Given the description of an element on the screen output the (x, y) to click on. 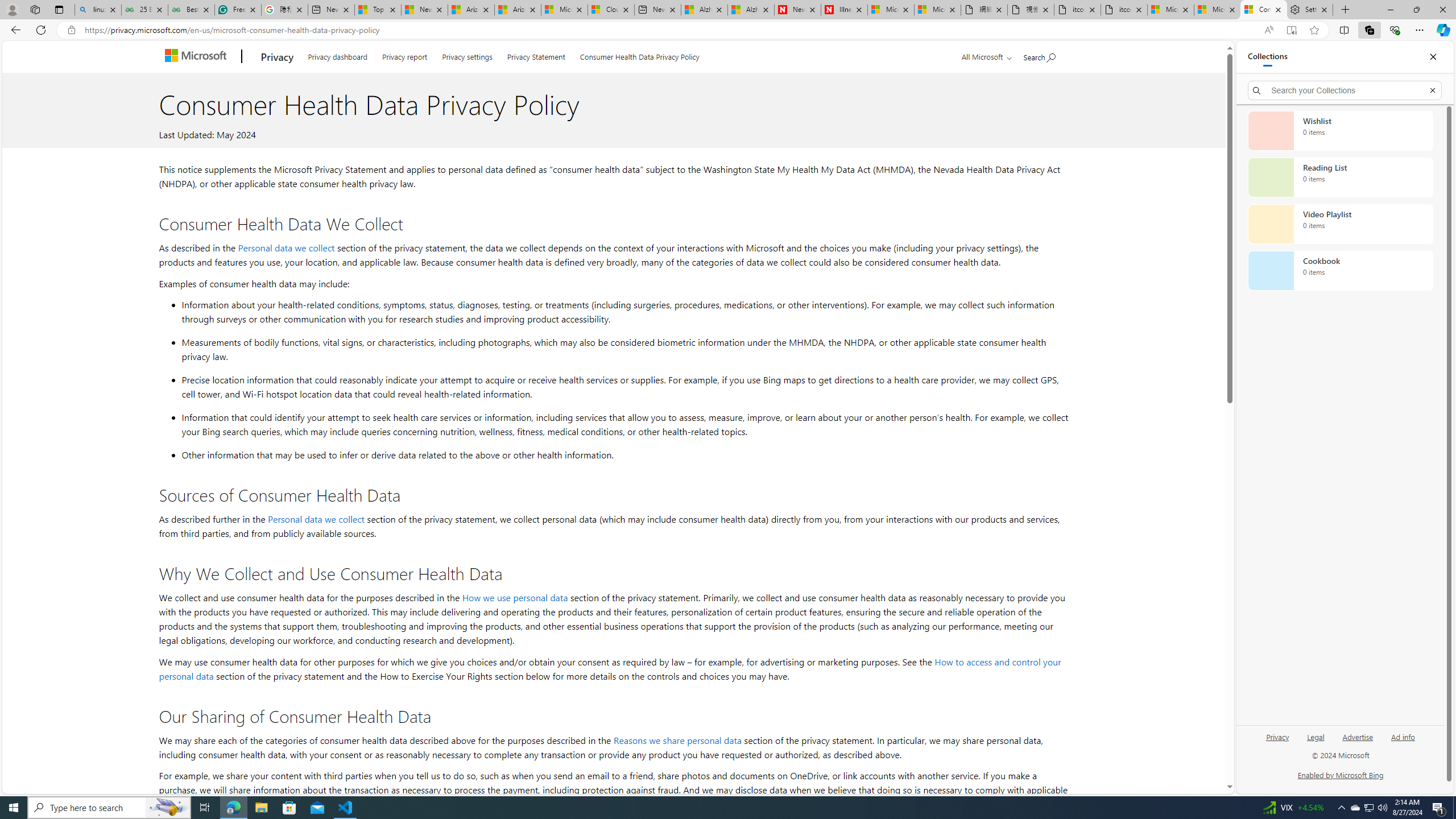
Search Microsoft.com (1039, 54)
Privacy dashboard (337, 54)
Privacy Statement (535, 54)
